Given the description of an element on the screen output the (x, y) to click on. 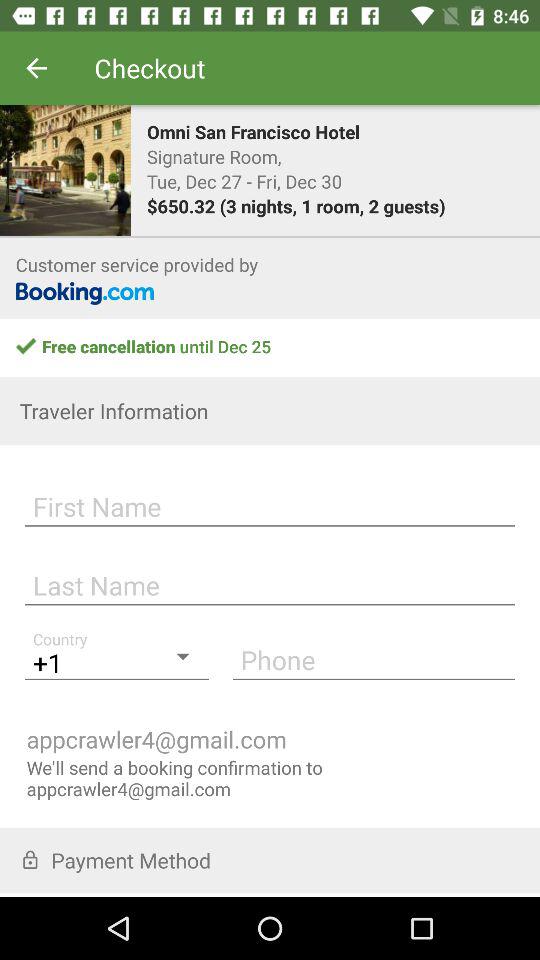
click the item above appcrawler4@gmail.com (373, 659)
